Given the description of an element on the screen output the (x, y) to click on. 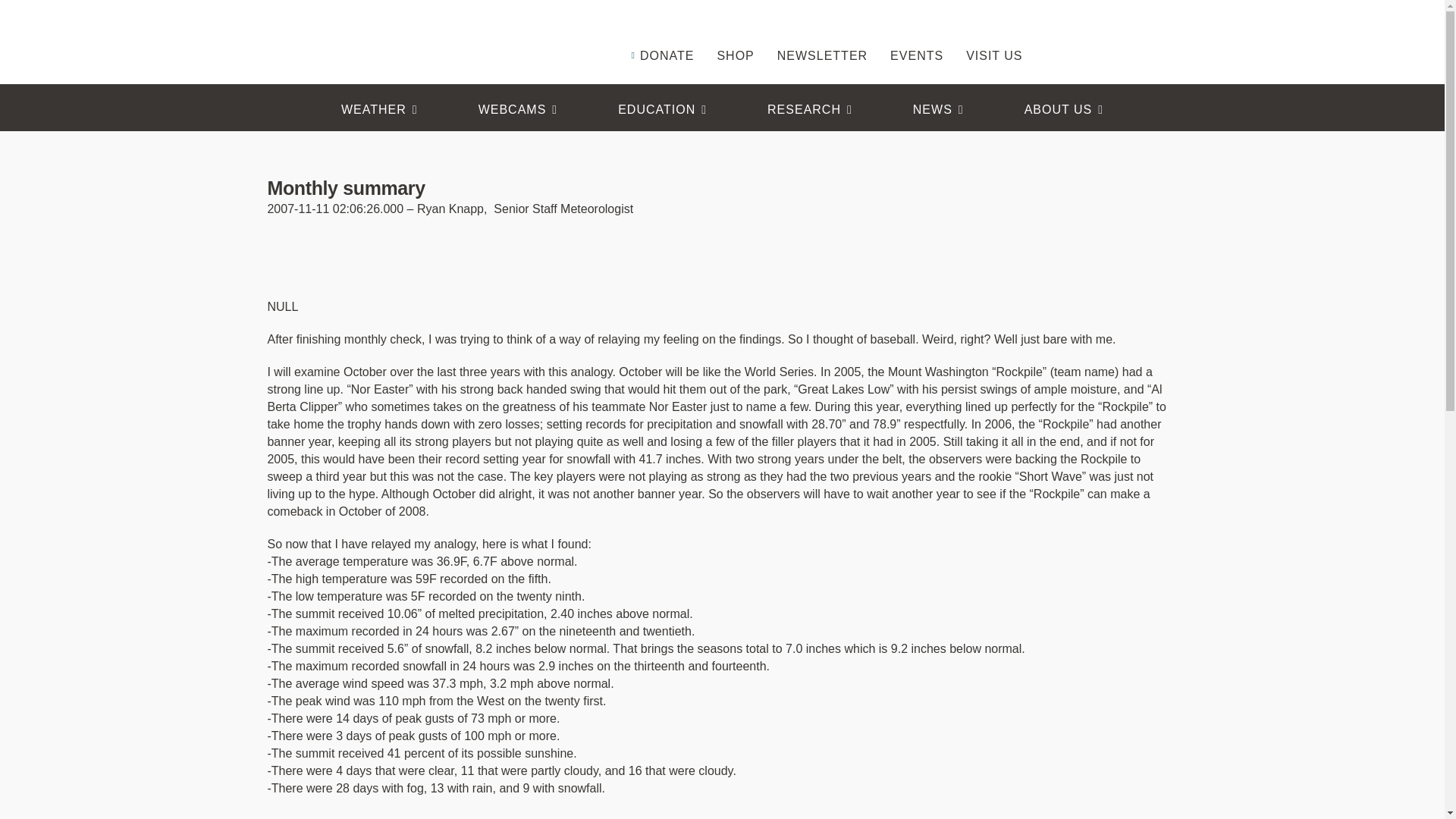
EDUCATION (662, 109)
NEWSLETTER (822, 33)
WEATHER (379, 109)
DONATE (660, 33)
WEBCAMS (518, 109)
